Given the description of an element on the screen output the (x, y) to click on. 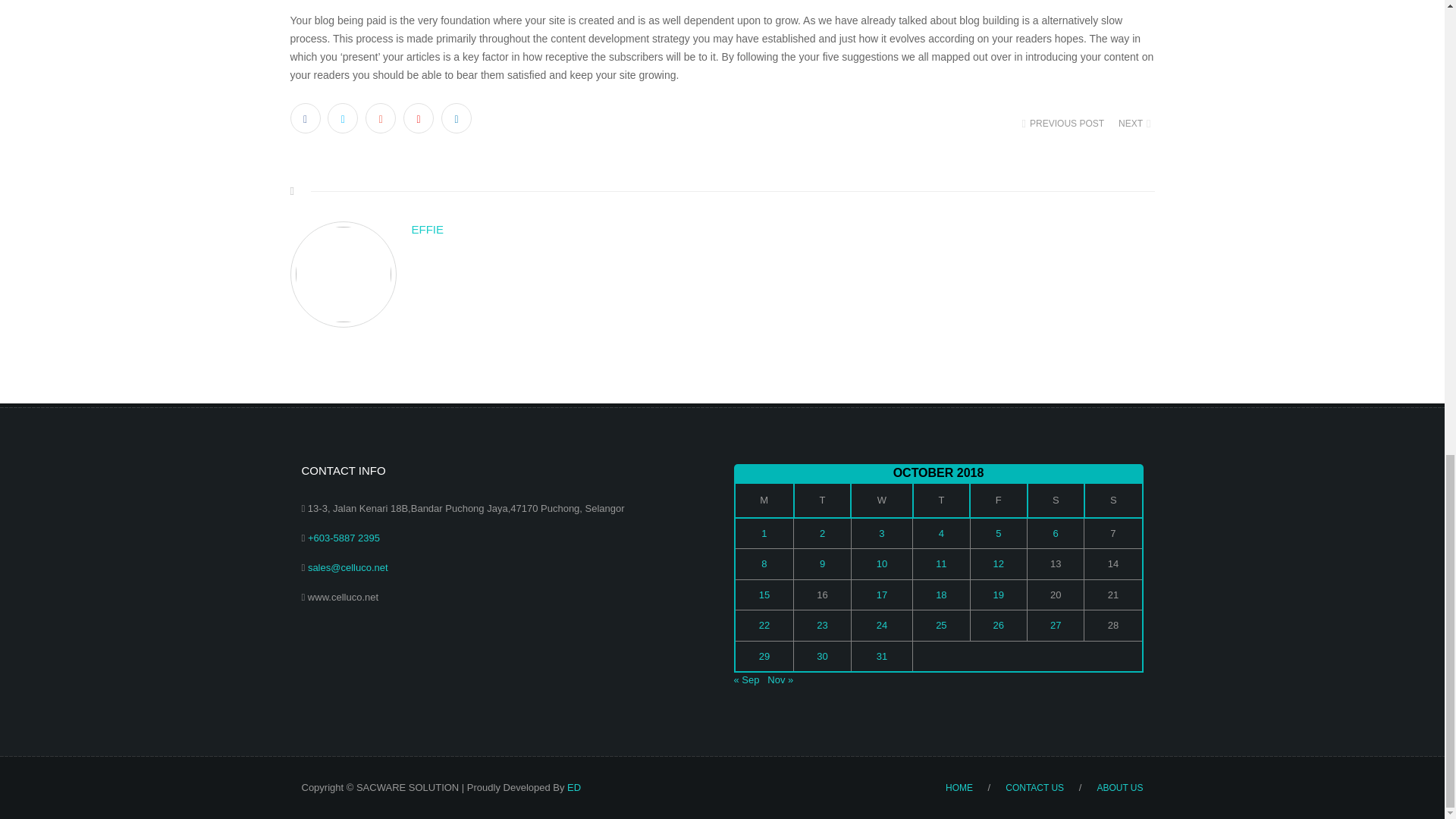
Wednesday (881, 500)
Friday (997, 500)
PREVIOUS POST (1065, 123)
Monday (763, 500)
Tuesday (821, 500)
Saturday (1055, 500)
Thursday (940, 500)
NEXT (1133, 123)
Sunday (1113, 500)
EFFIE (782, 230)
